Given the description of an element on the screen output the (x, y) to click on. 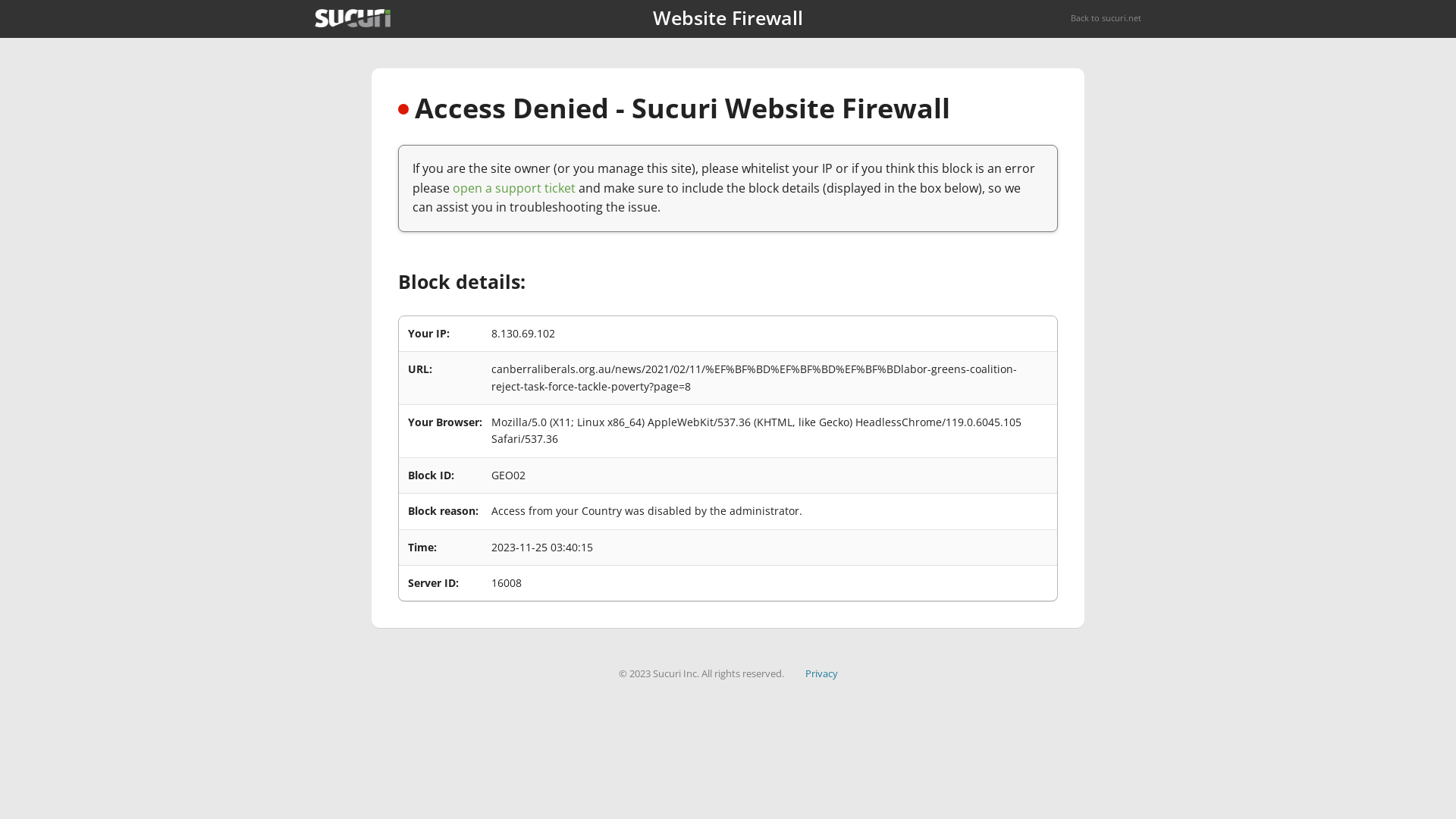
Back to sucuri.net Element type: text (1105, 18)
open a support ticket Element type: text (513, 187)
Privacy Element type: text (821, 673)
